Given the description of an element on the screen output the (x, y) to click on. 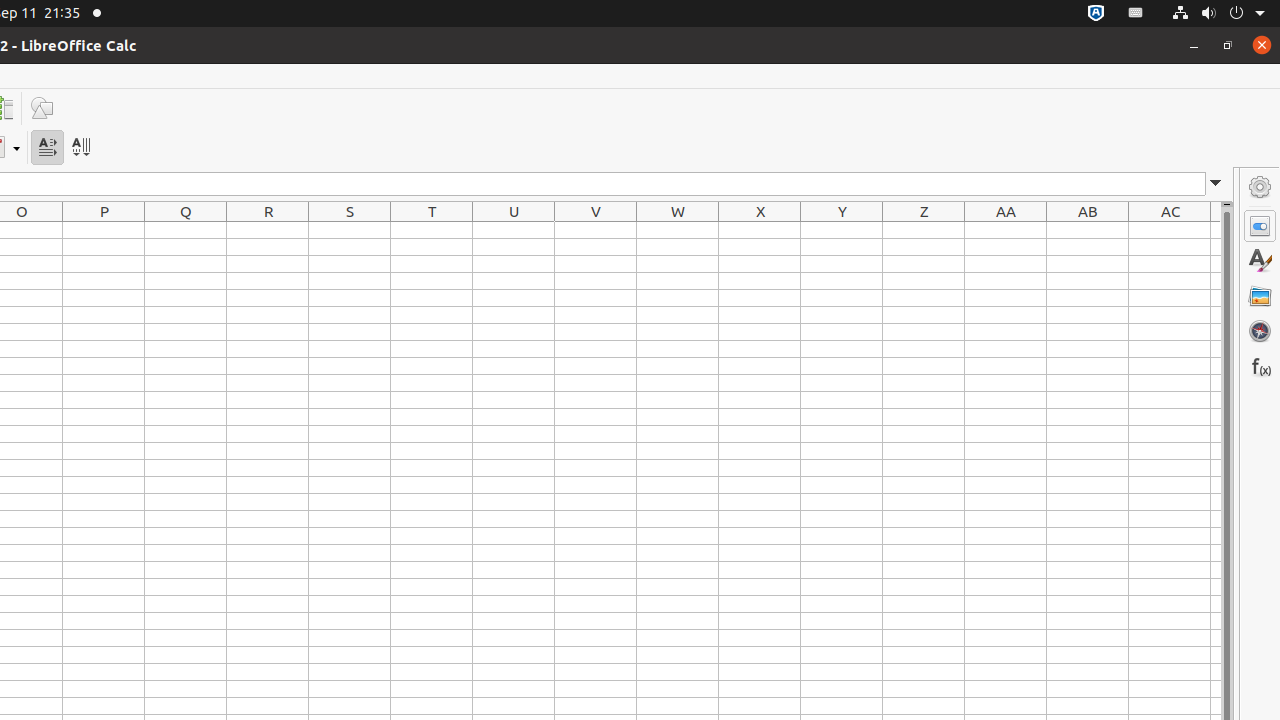
X1 Element type: table-cell (760, 230)
V1 Element type: table-cell (596, 230)
P1 Element type: table-cell (104, 230)
AD1 Element type: table-cell (1216, 230)
Z1 Element type: table-cell (924, 230)
